Given the description of an element on the screen output the (x, y) to click on. 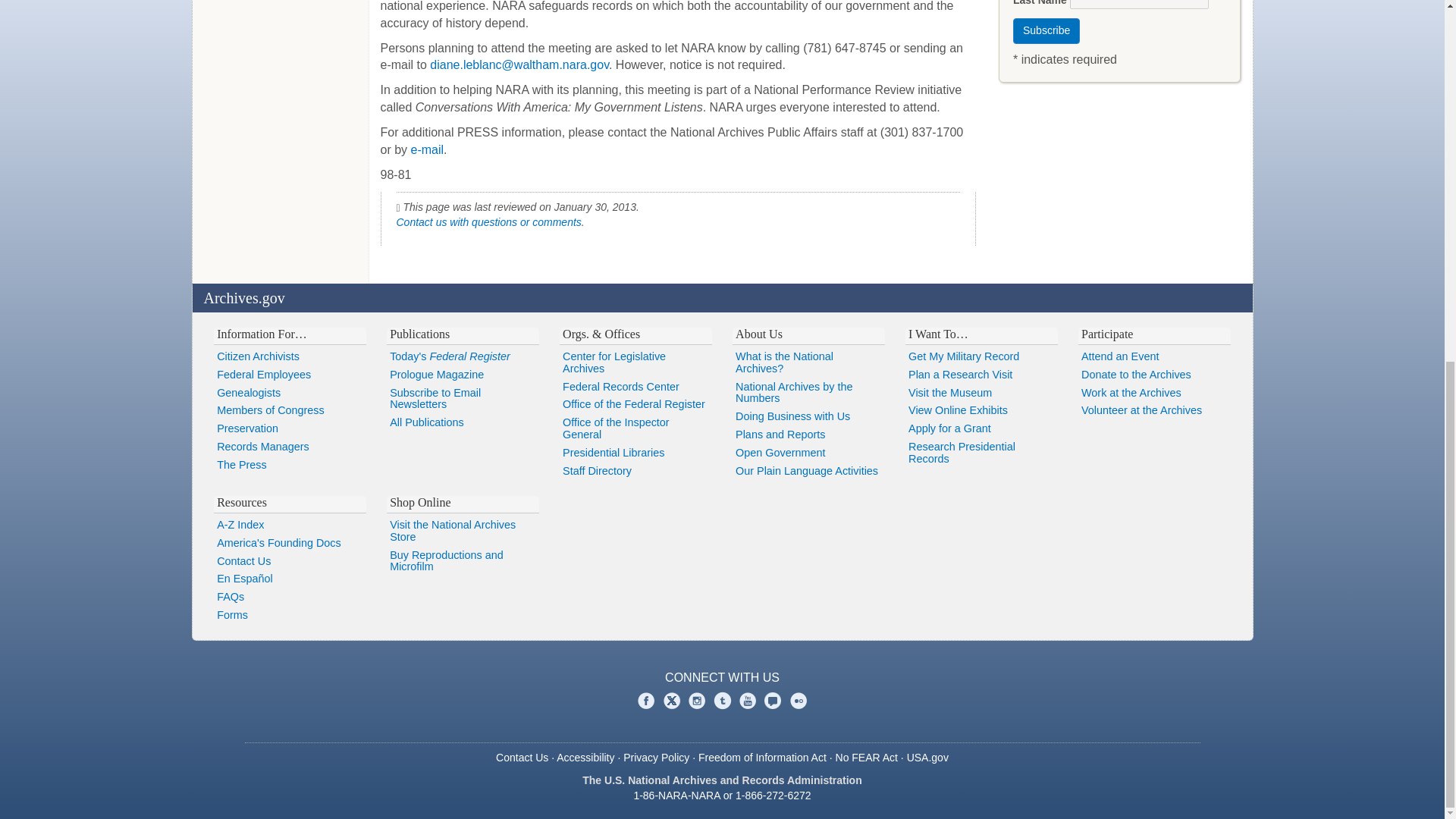
Federal Employees (290, 375)
Citizen Archivists (290, 357)
Subscribe (1046, 31)
Genealogists (290, 393)
Contact us with questions or comments (488, 222)
e-mail (427, 149)
Subscribe (1046, 31)
